Given the description of an element on the screen output the (x, y) to click on. 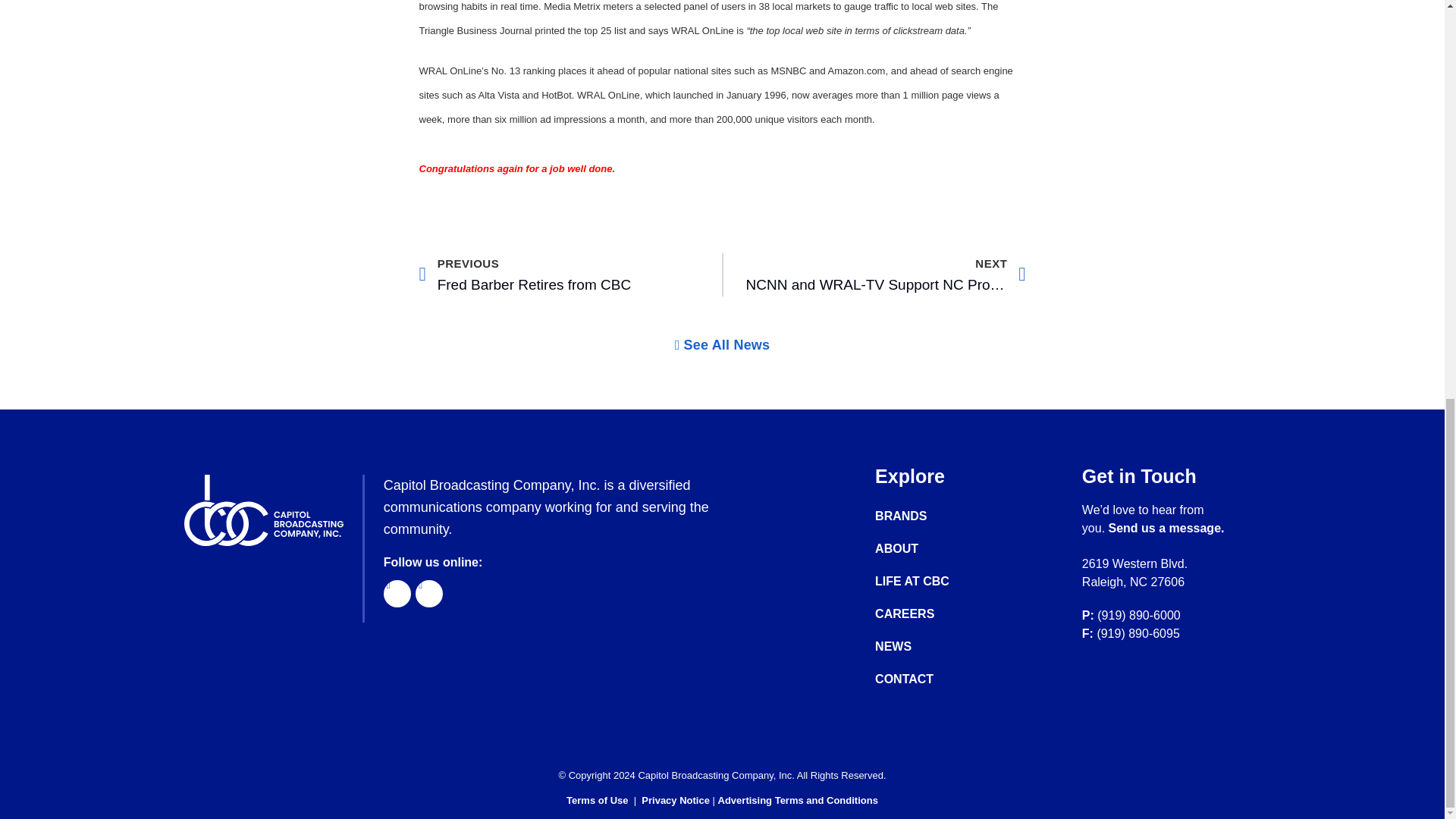
Terms of Use (596, 799)
ABOUT (926, 548)
NEWS (558, 275)
Send us a message. (926, 646)
Advertising Terms and Conditions (1166, 527)
LIFE AT CBC (797, 799)
BRANDS (926, 581)
Privacy Notice (926, 516)
CONTACT (676, 799)
